Given the description of an element on the screen output the (x, y) to click on. 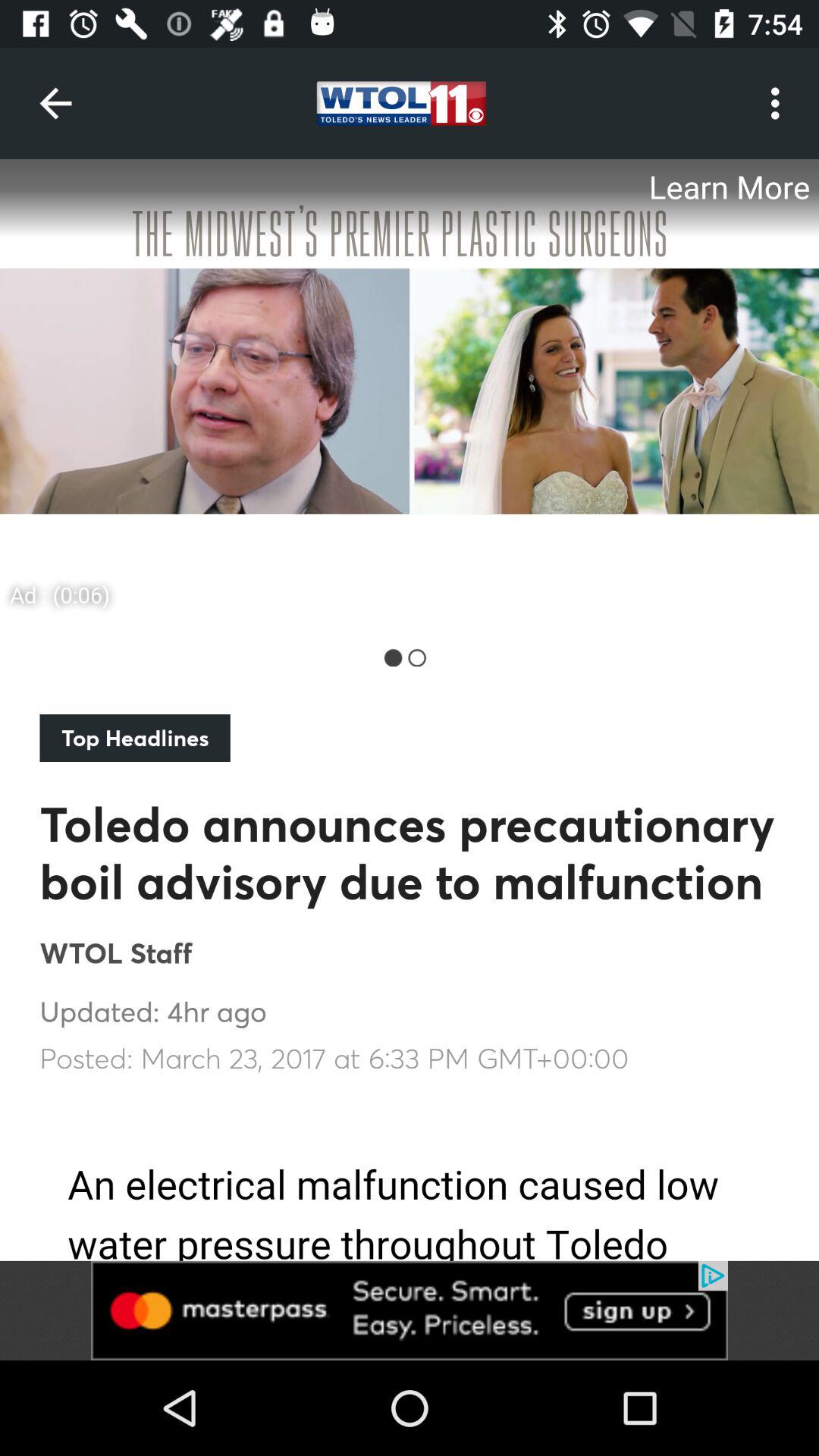
click on the text which says top headlines (135, 737)
